Given the description of an element on the screen output the (x, y) to click on. 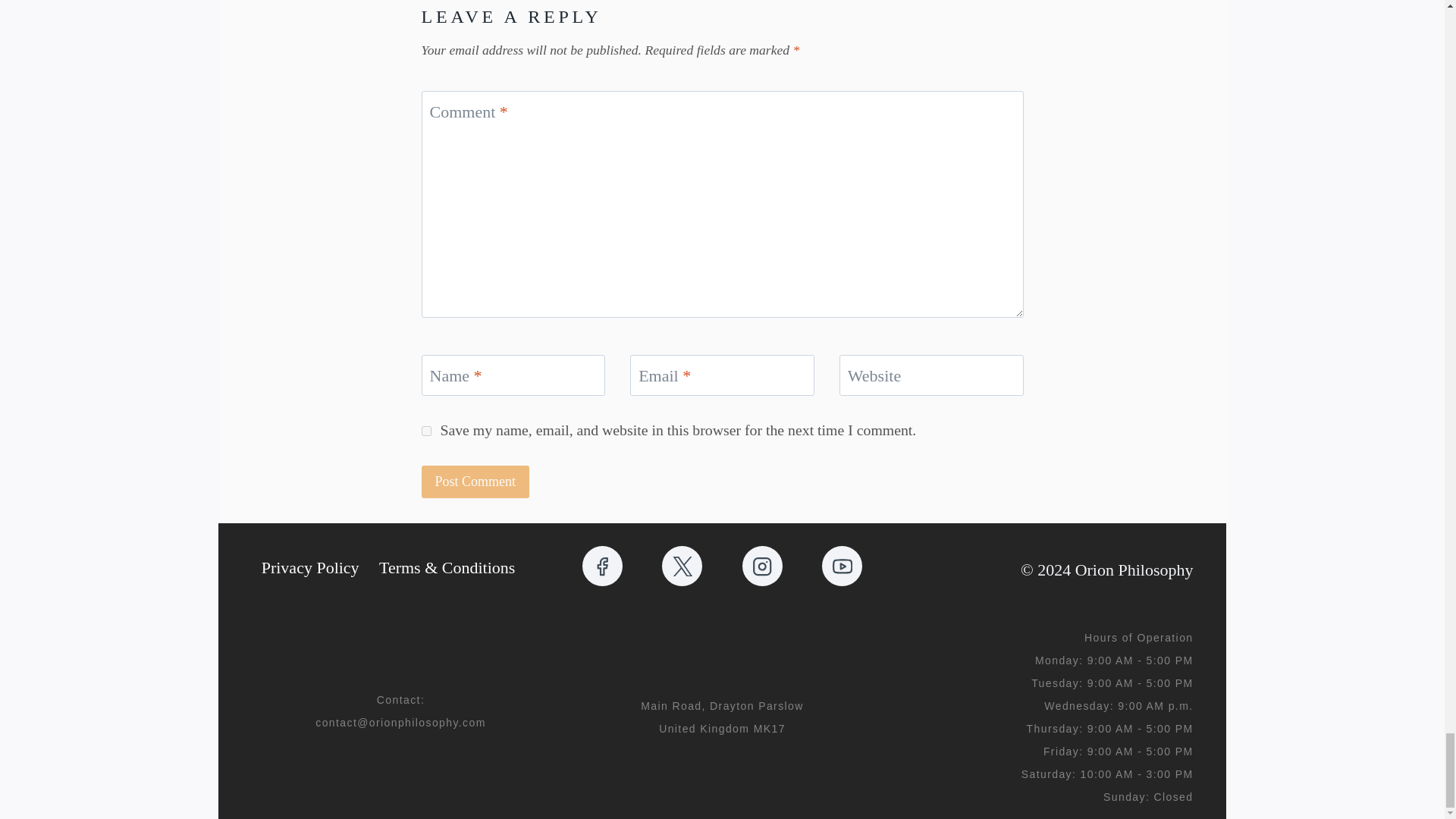
yes (426, 430)
Post Comment (475, 481)
